Given the description of an element on the screen output the (x, y) to click on. 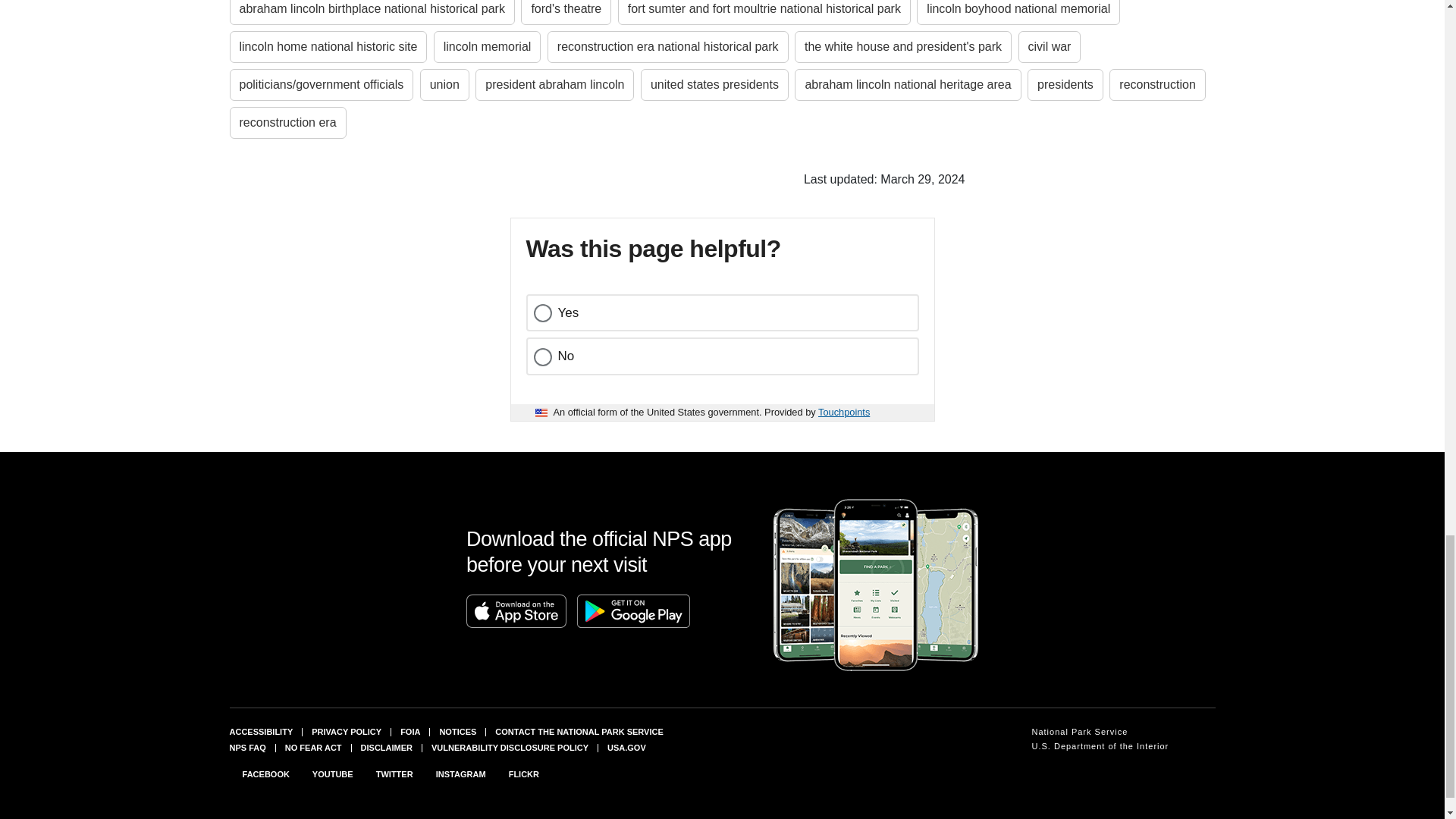
National Park Service frequently asked questions (246, 747)
